Given the description of an element on the screen output the (x, y) to click on. 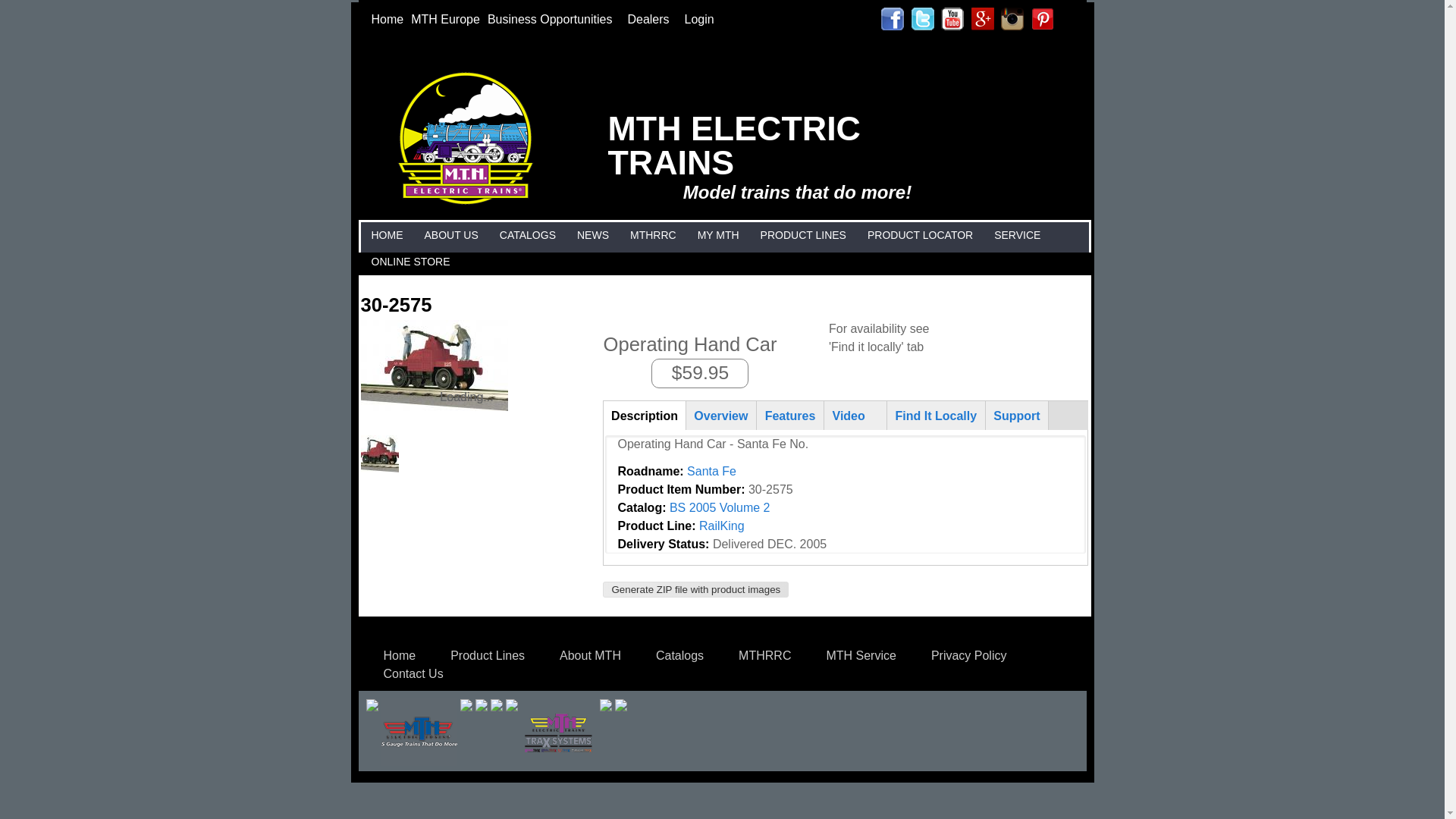
MTH Europe (445, 19)
PRODUCT LINES (803, 233)
Features (789, 411)
MTH ELECTRIC TRAINS (747, 144)
MY MTH (718, 233)
ONLINE STORE (409, 259)
HOME (386, 233)
Home (386, 19)
Overview (721, 411)
MTH ELECTRIC TRAINS (472, 80)
